Given the description of an element on the screen output the (x, y) to click on. 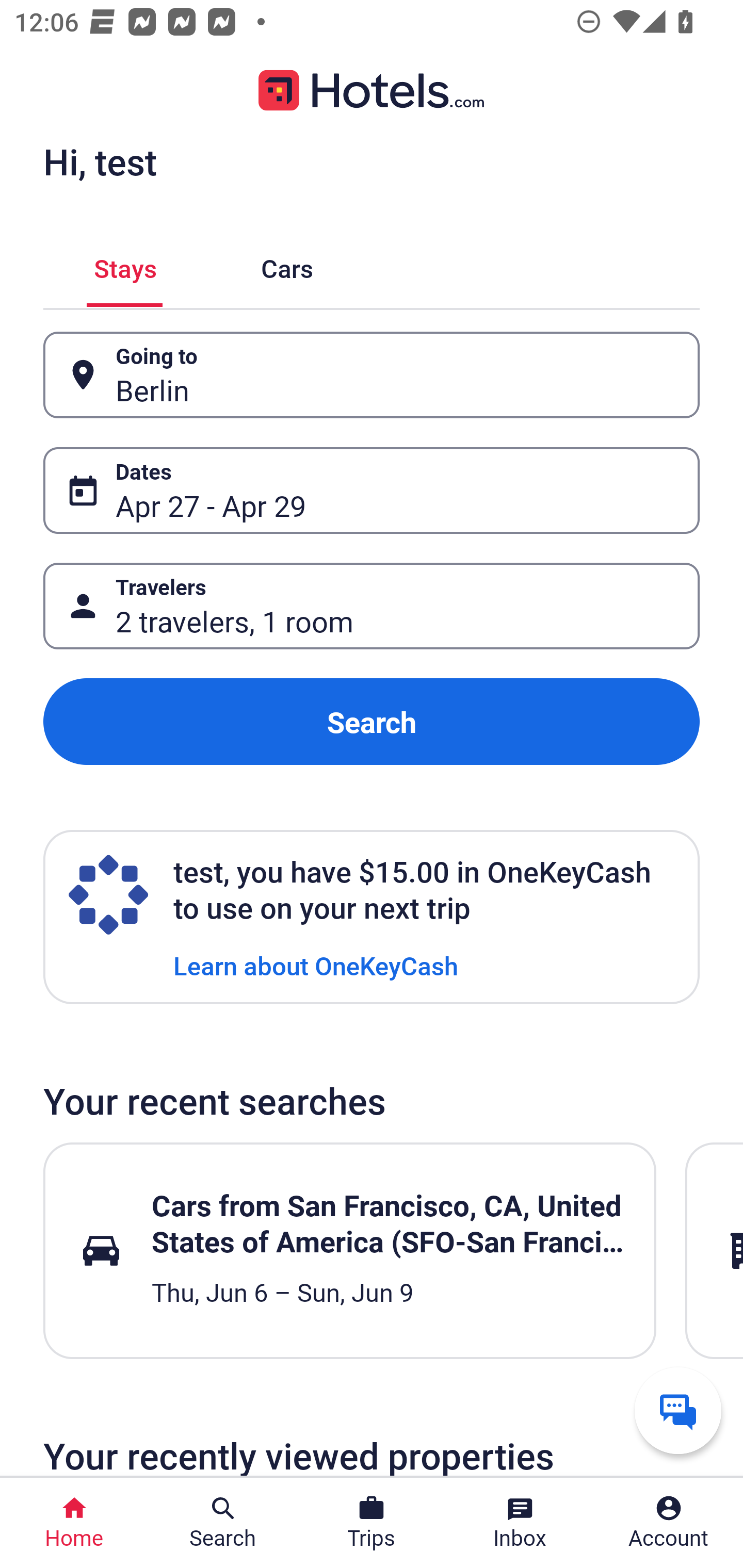
Hi, test (99, 161)
Cars (286, 265)
Going to Button Berlin (371, 375)
Dates Button Apr 27 - Apr 29 (371, 489)
Travelers Button 2 travelers, 1 room (371, 605)
Search (371, 721)
Learn about OneKeyCash Learn about OneKeyCash Link (315, 964)
Get help from a virtual agent (677, 1410)
Search Search Button (222, 1522)
Trips Trips Button (371, 1522)
Inbox Inbox Button (519, 1522)
Account Profile. Button (668, 1522)
